Given the description of an element on the screen output the (x, y) to click on. 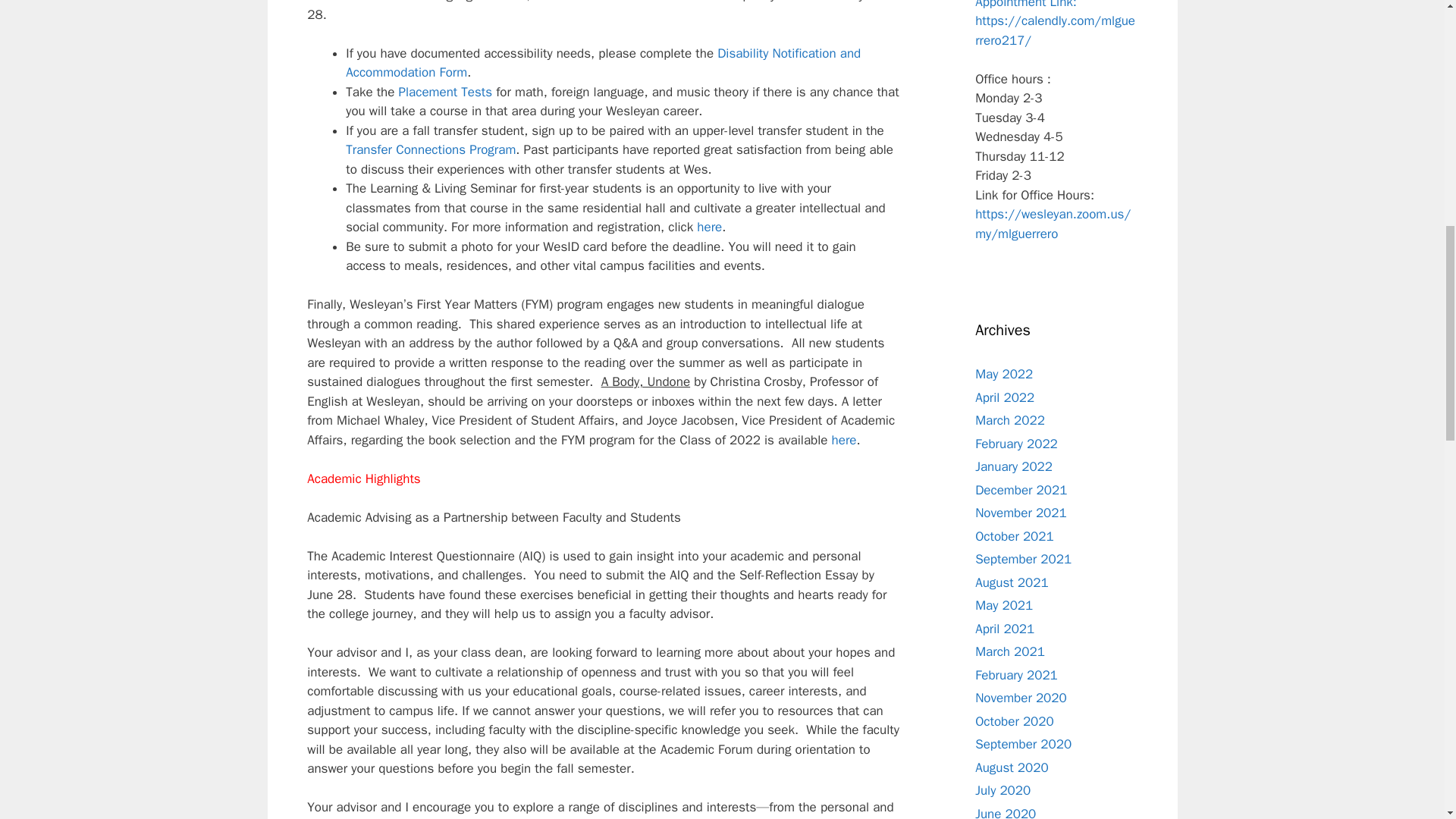
here (709, 227)
Placement Tests (445, 91)
Transfer Connections Program (430, 149)
here (844, 439)
Disability Notification and Accommodation Form (603, 63)
